Given the description of an element on the screen output the (x, y) to click on. 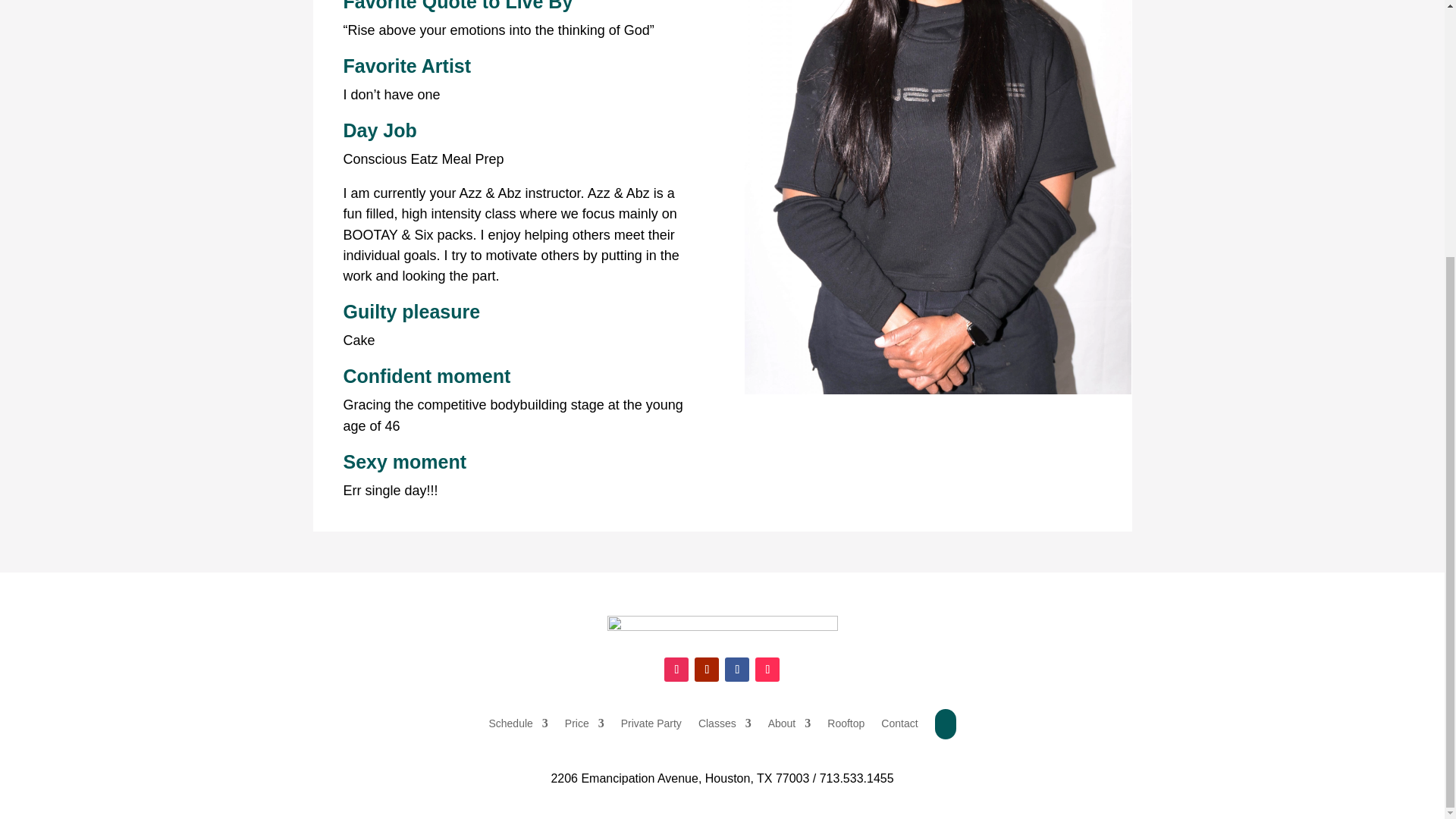
Follow on Youtube (706, 669)
Follow on Instagram (675, 669)
Follow on Facebook (737, 669)
logo (722, 624)
Follow on TikTok (766, 669)
